Given the description of an element on the screen output the (x, y) to click on. 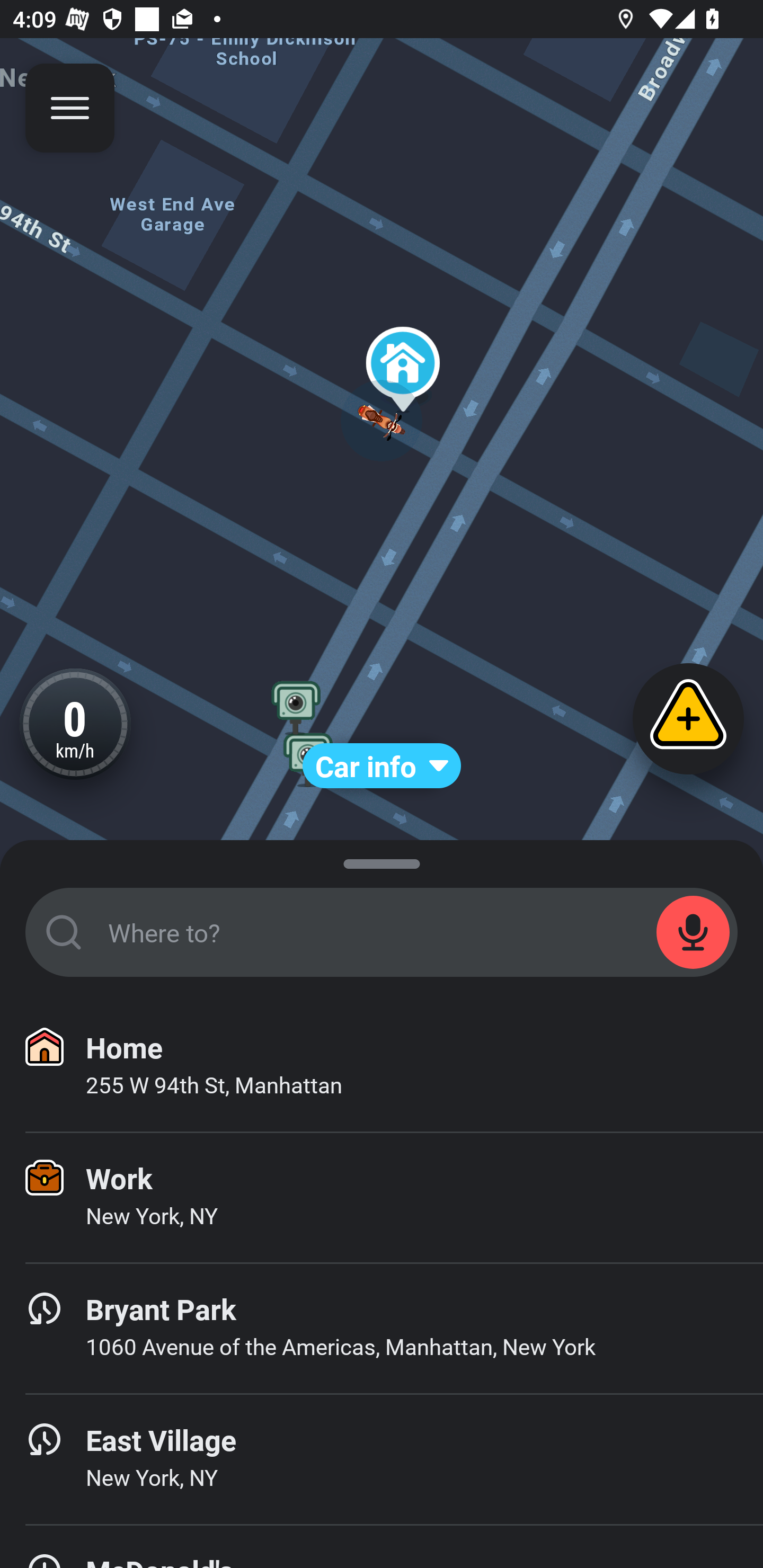
Car info (381, 765)
SUGGESTIONS_SHEET_DRAG_HANDLE (381, 860)
START_STATE_SEARCH_FIELD Where to? (381, 931)
Home 255 W 94th St, Manhattan (381, 1066)
Work New York, NY (381, 1197)
East Village New York, NY (381, 1459)
